Given the description of an element on the screen output the (x, y) to click on. 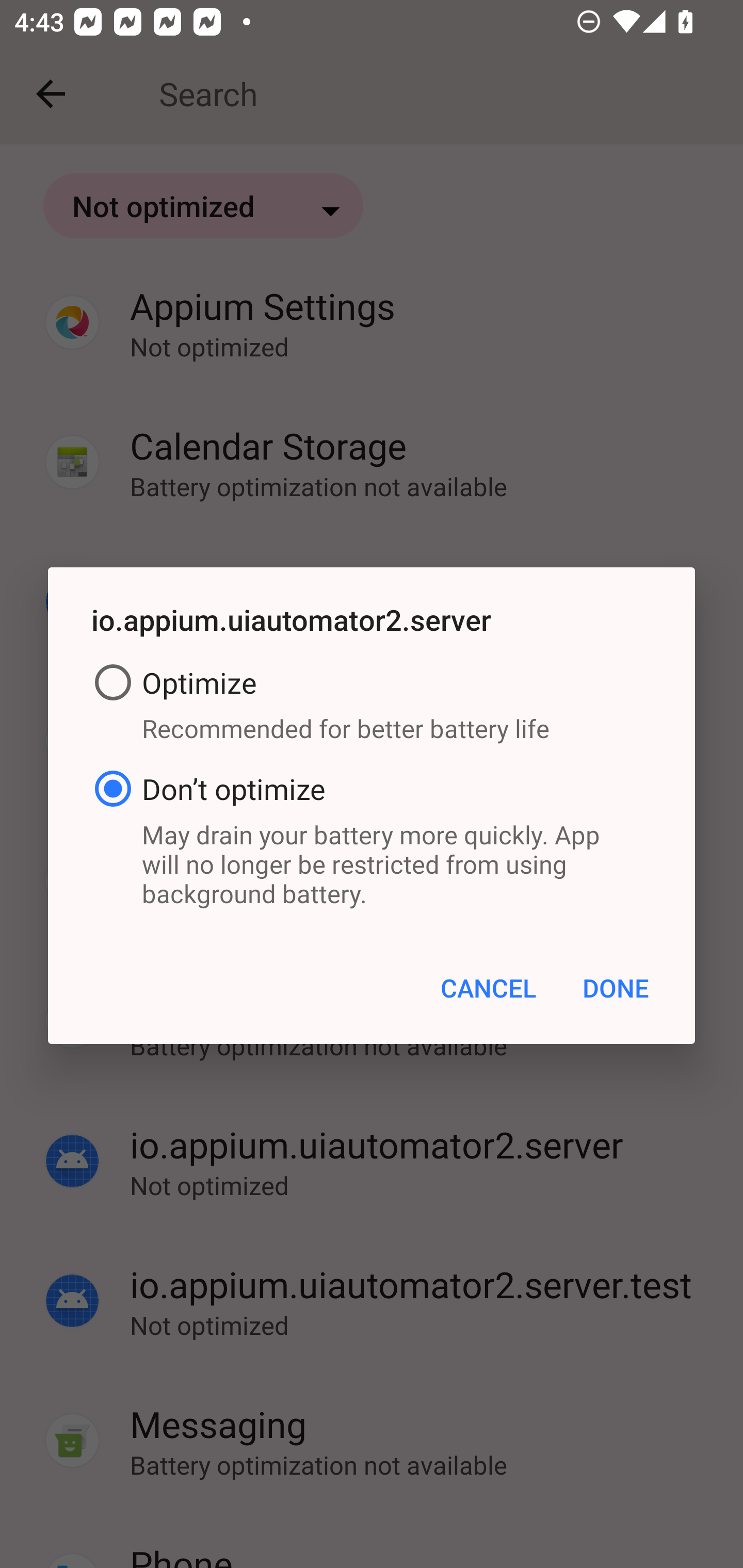
Optimize Recommended for better battery life (371, 706)
CANCEL (488, 987)
DONE (615, 987)
